Given the description of an element on the screen output the (x, y) to click on. 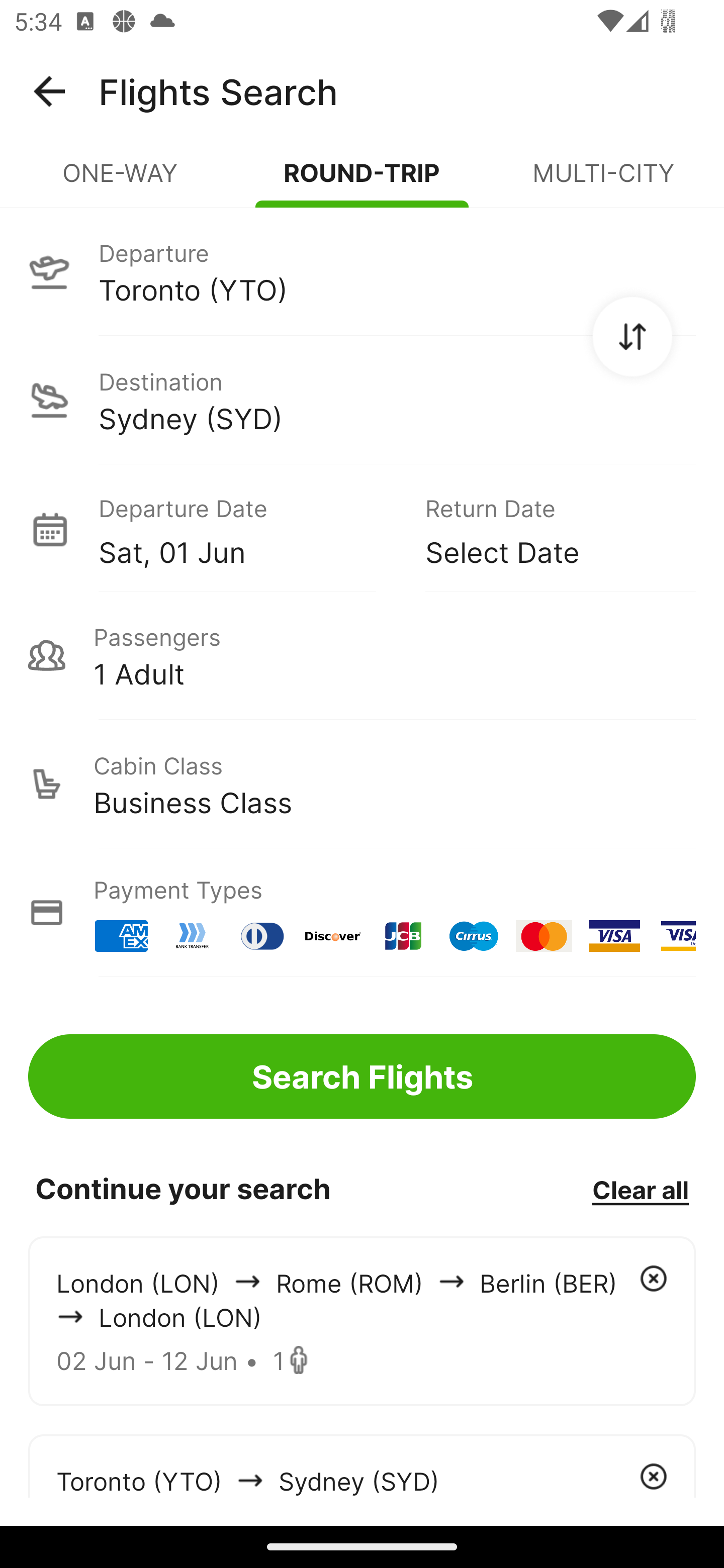
ONE-WAY (120, 180)
ROUND-TRIP (361, 180)
MULTI-CITY (603, 180)
Departure Toronto (YTO) (362, 270)
Destination Sydney (SYD) (362, 400)
Departure Date Sat, 01 Jun (247, 528)
Return Date Select Date (546, 528)
Passengers 1 Adult (362, 655)
Cabin Class Business Class (362, 783)
Payment Types (362, 912)
Search Flights (361, 1075)
Clear all (640, 1189)
Toronto (YTO)  arrowIcon  Sydney (SYD) (361, 1465)
